Given the description of an element on the screen output the (x, y) to click on. 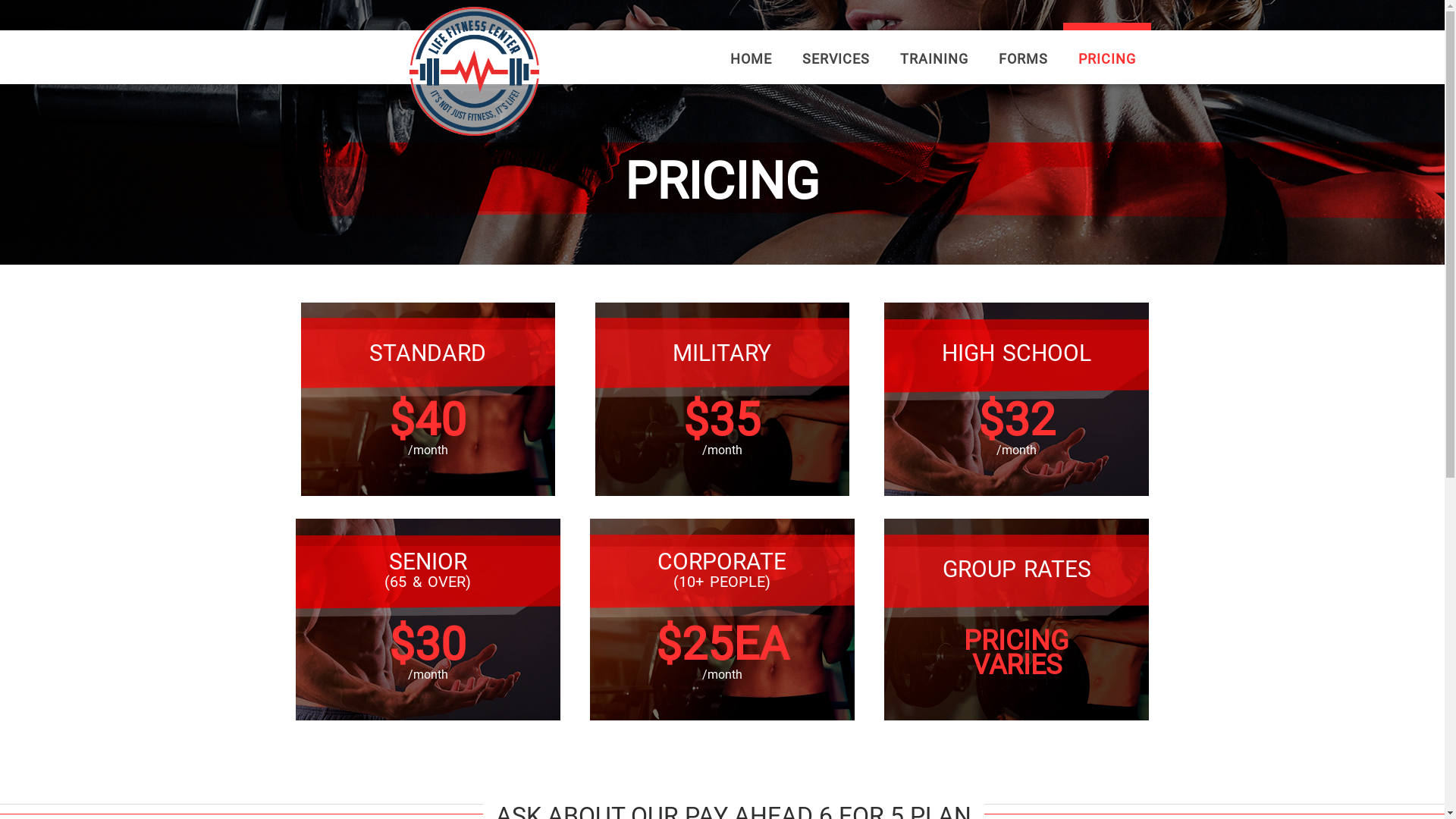
HOME Element type: text (750, 58)
SERVICES Element type: text (835, 58)
FORMS Element type: text (1022, 58)
PRICING Element type: text (1107, 58)
TRAINING Element type: text (933, 58)
